Given the description of an element on the screen output the (x, y) to click on. 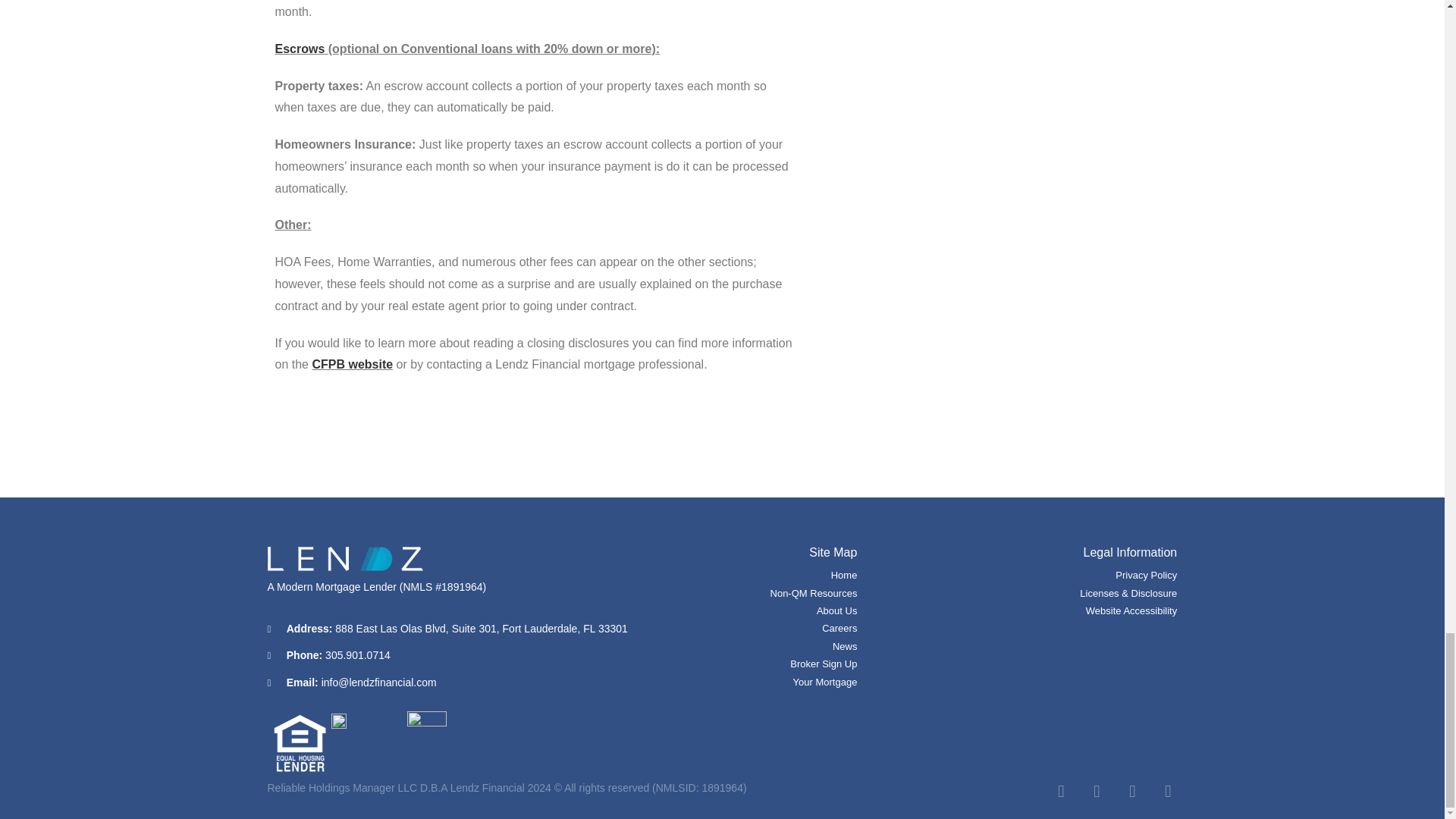
News (787, 646)
Privacy Policy (1095, 574)
Home (787, 574)
Website Accessibility (1095, 610)
CFPB website (352, 364)
About Us (787, 610)
Non-QM Resources (787, 592)
Escrows (299, 48)
Your Mortgage (787, 682)
Broker Sign Up (787, 663)
